Given the description of an element on the screen output the (x, y) to click on. 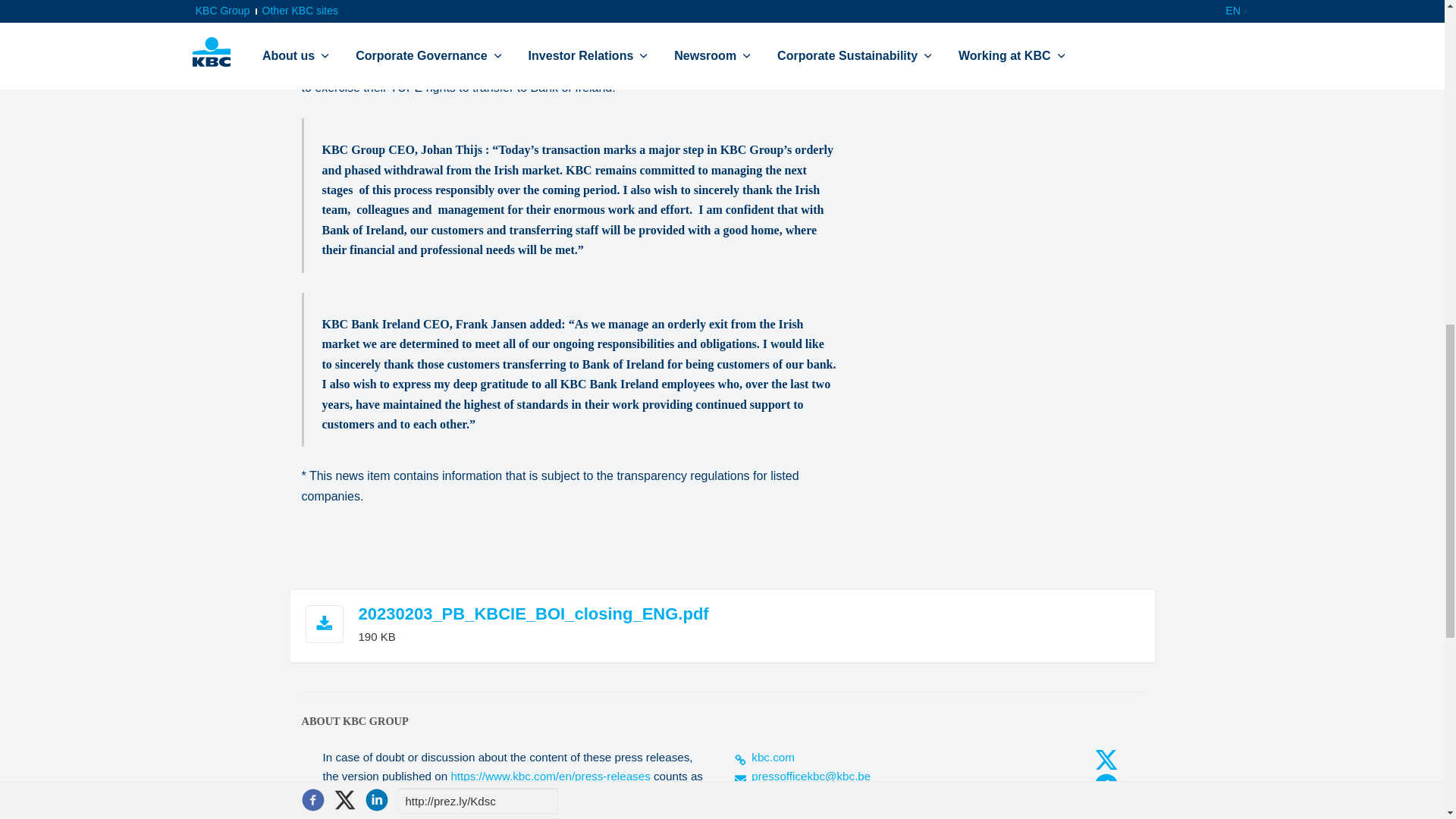
KBC Group Twitter (1105, 760)
KBC Group Linkedin (1105, 809)
kbc.com (763, 757)
KBC Group Facebook (1105, 786)
